Given the description of an element on the screen output the (x, y) to click on. 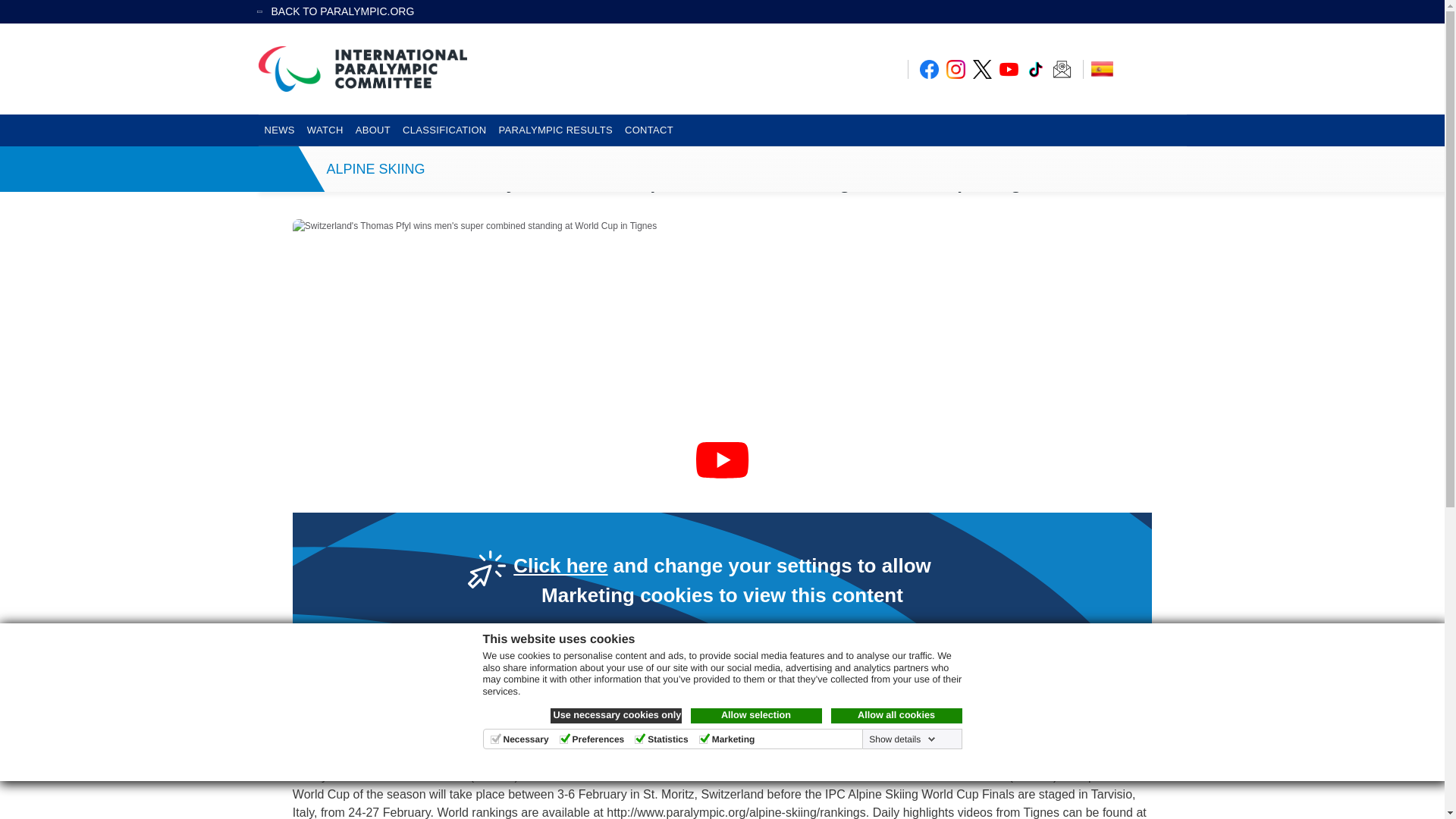
Show details (900, 739)
Allow selection (755, 715)
Allow all cookies (896, 715)
Use necessary cookies only (615, 715)
